Given the description of an element on the screen output the (x, y) to click on. 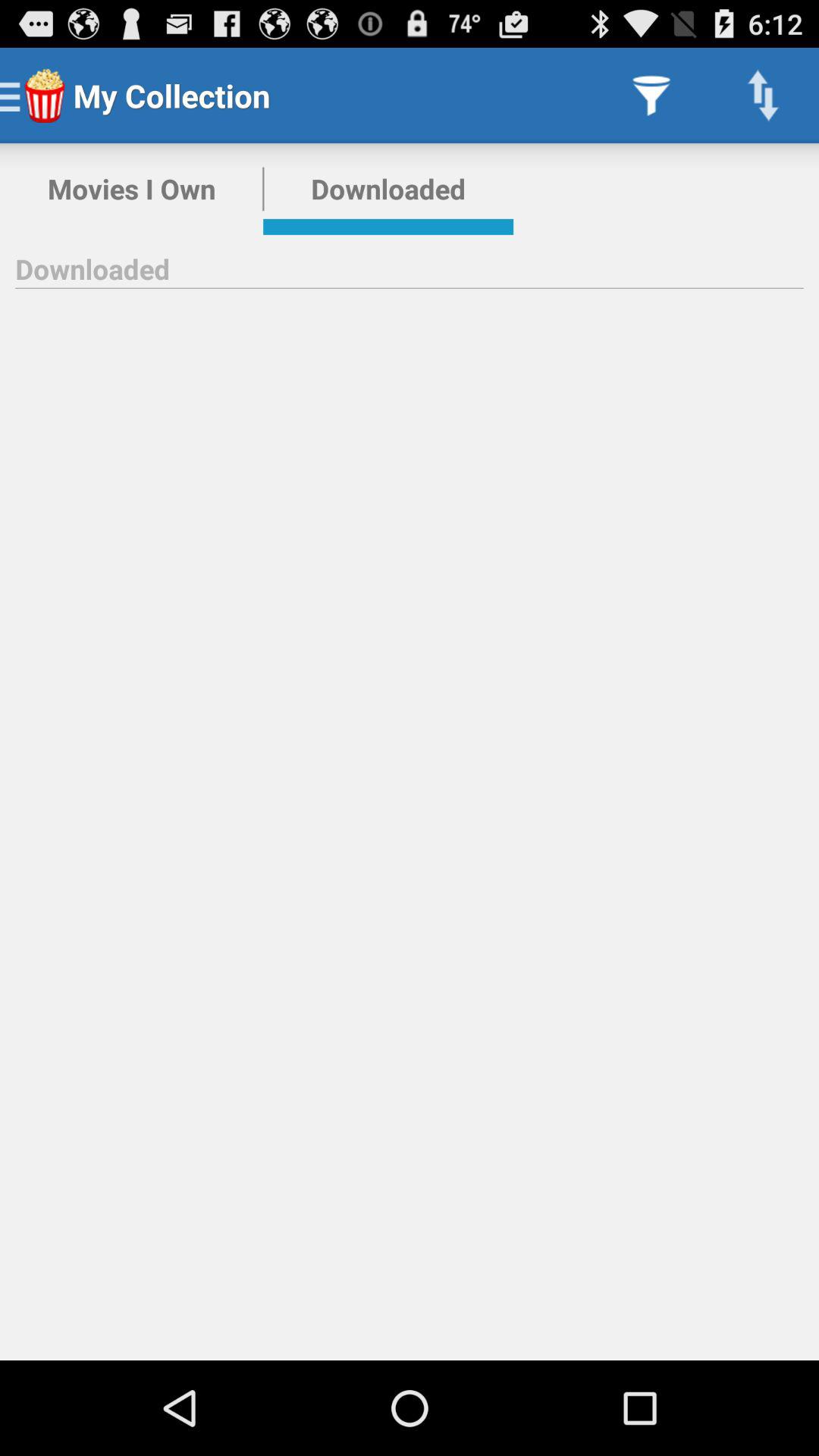
click item to the right of downloaded icon (651, 95)
